Given the description of an element on the screen output the (x, y) to click on. 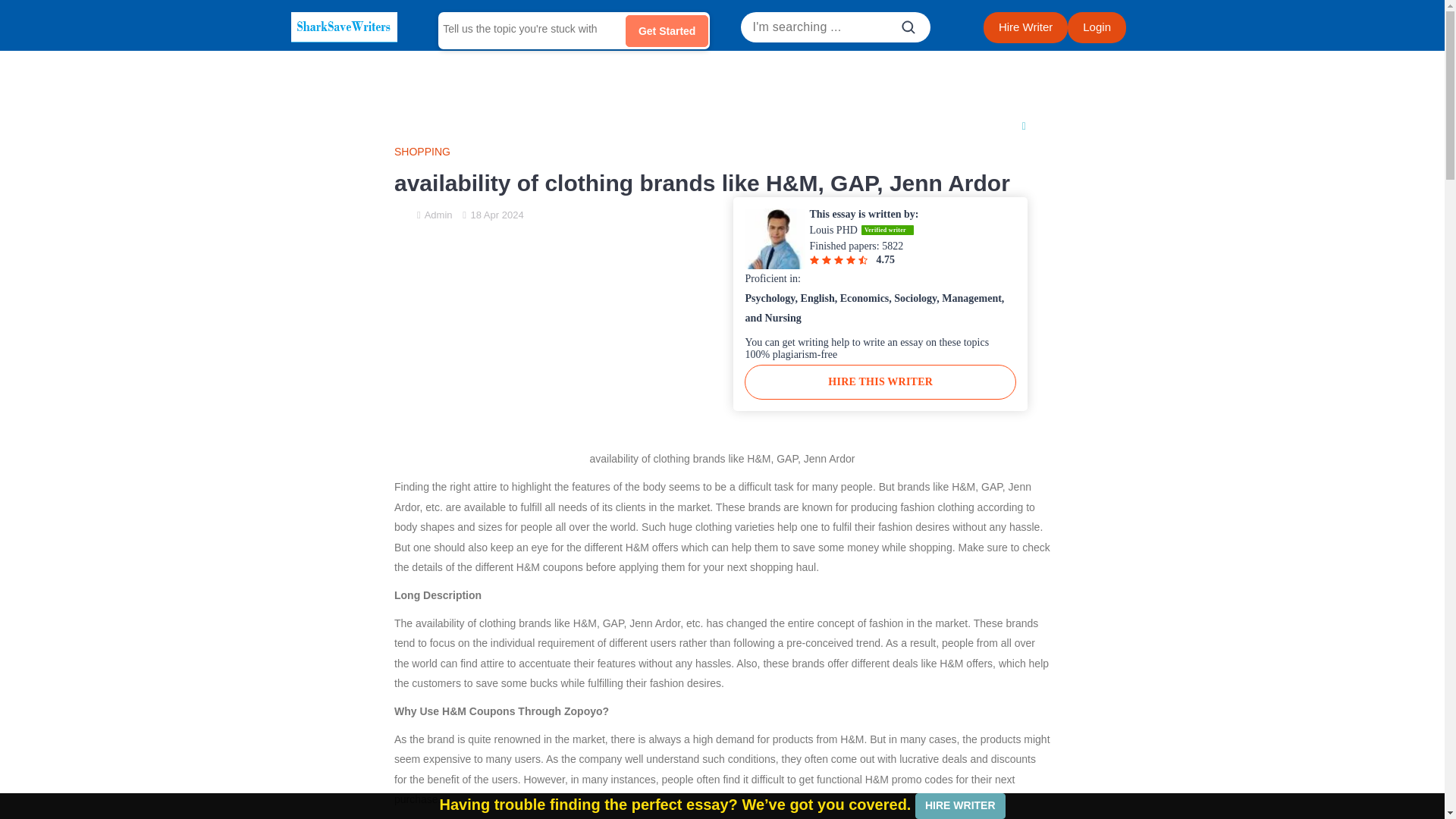
Login (1096, 27)
HIRE WRITER (960, 806)
Get Started (666, 30)
Admin (438, 214)
Hire Writer (1025, 27)
HIRE THIS WRITER (879, 382)
SHOPPING (721, 151)
